Given the description of an element on the screen output the (x, y) to click on. 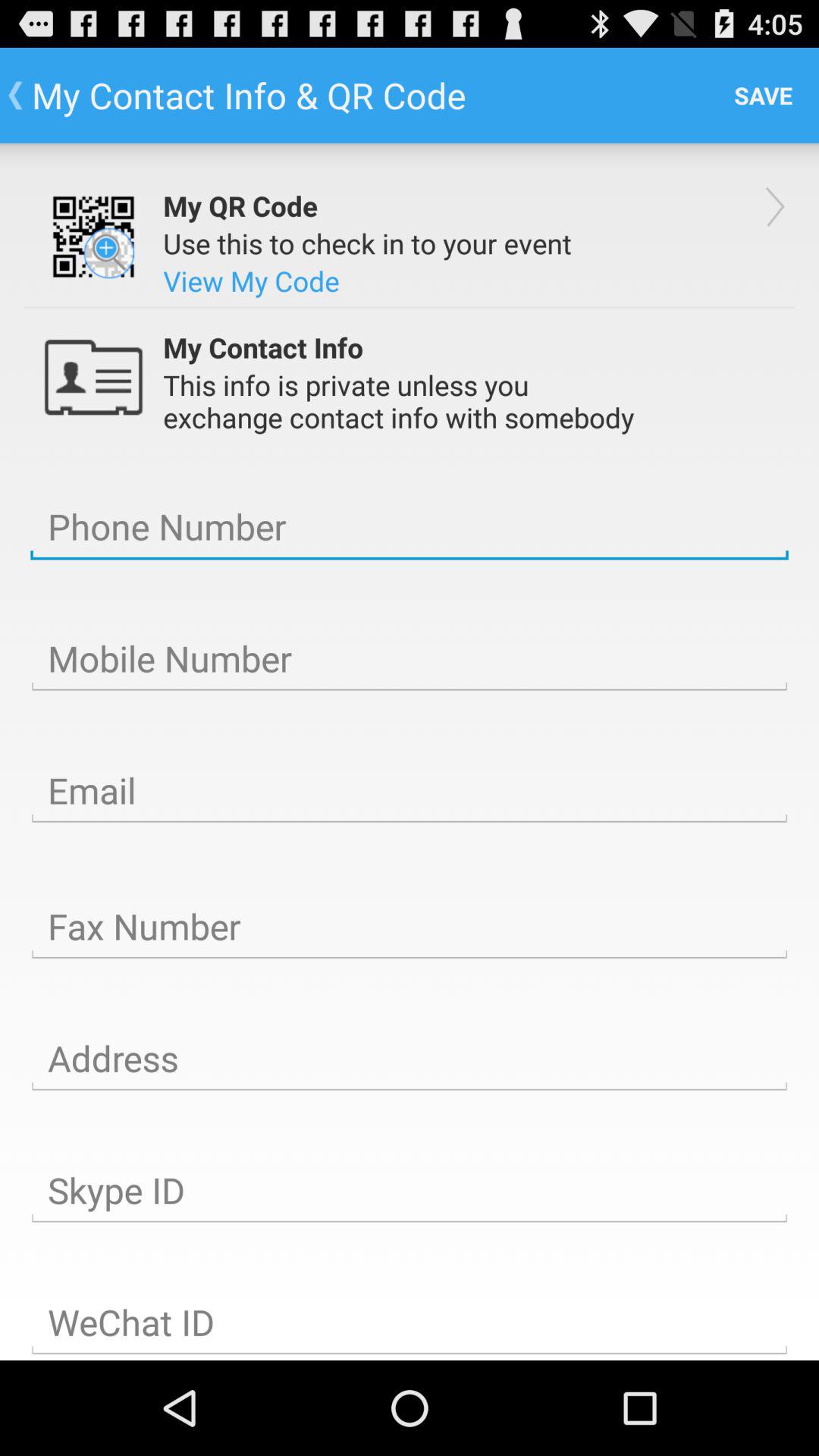
enter your phone number (409, 526)
